Given the description of an element on the screen output the (x, y) to click on. 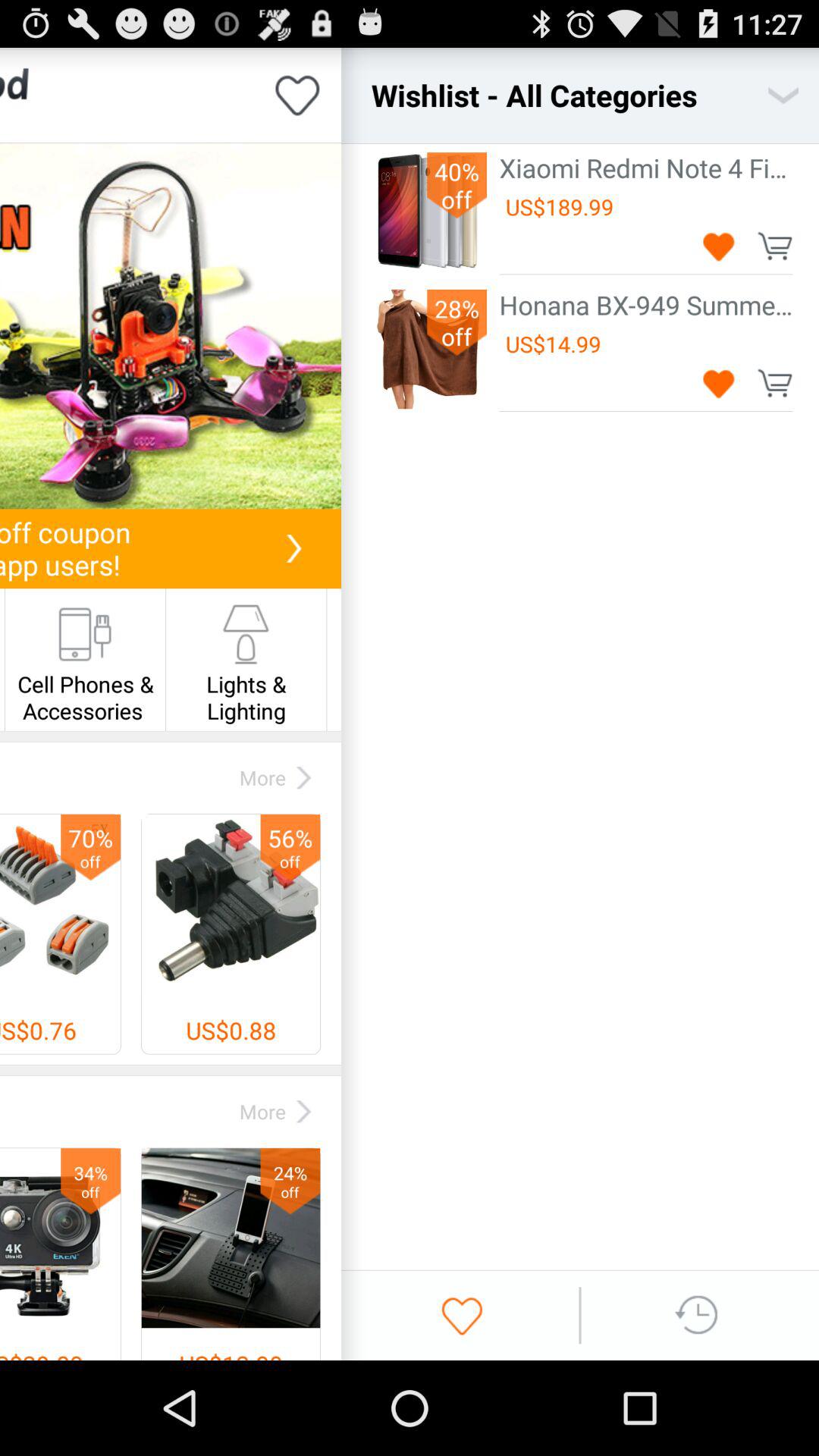
add to favorites (719, 245)
